Given the description of an element on the screen output the (x, y) to click on. 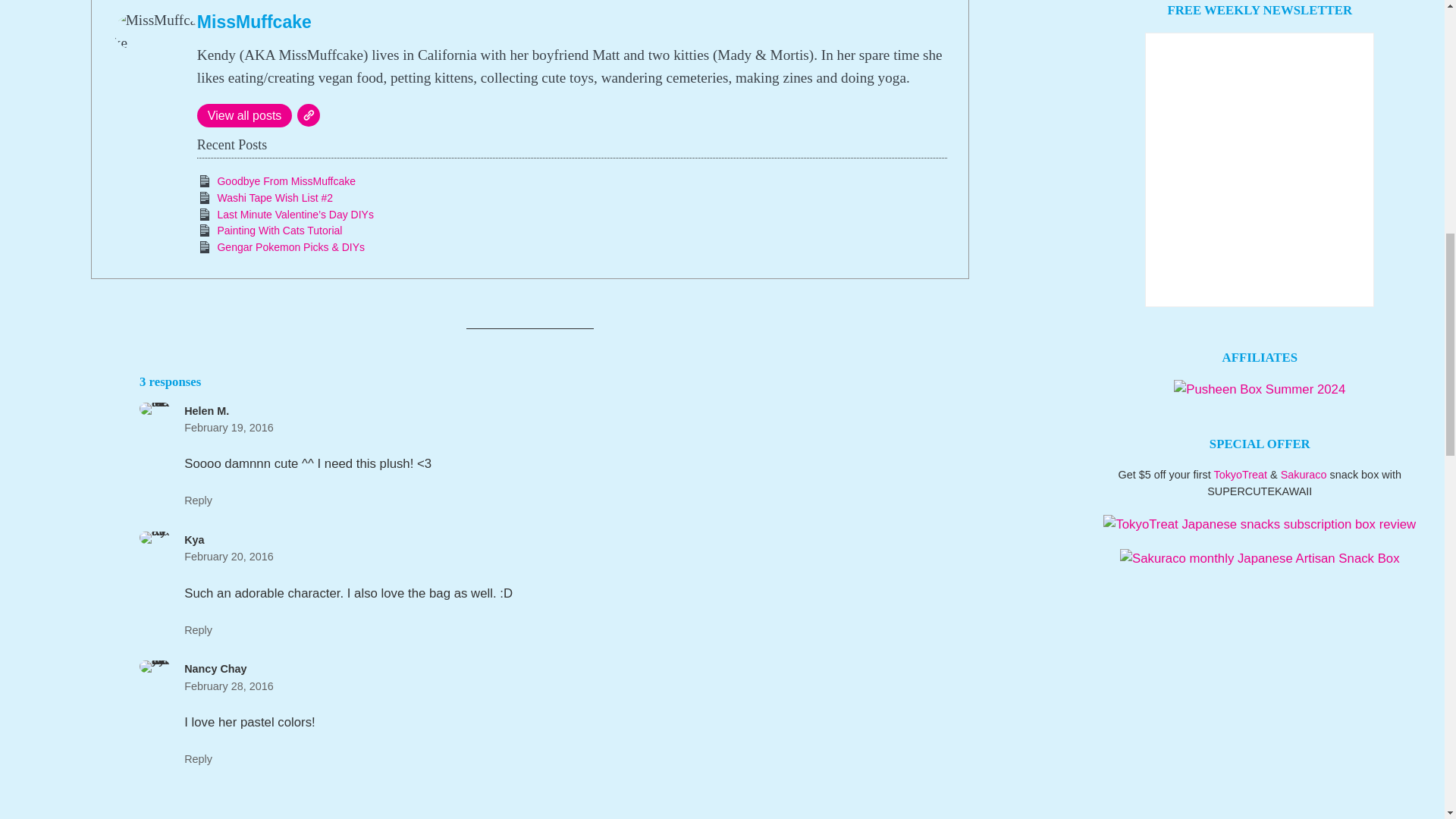
Painting With Cats Tutorial (279, 230)
Goodbye From MissMuffcake (285, 181)
MissMuffcake (253, 21)
View all posts (244, 115)
